Given the description of an element on the screen output the (x, y) to click on. 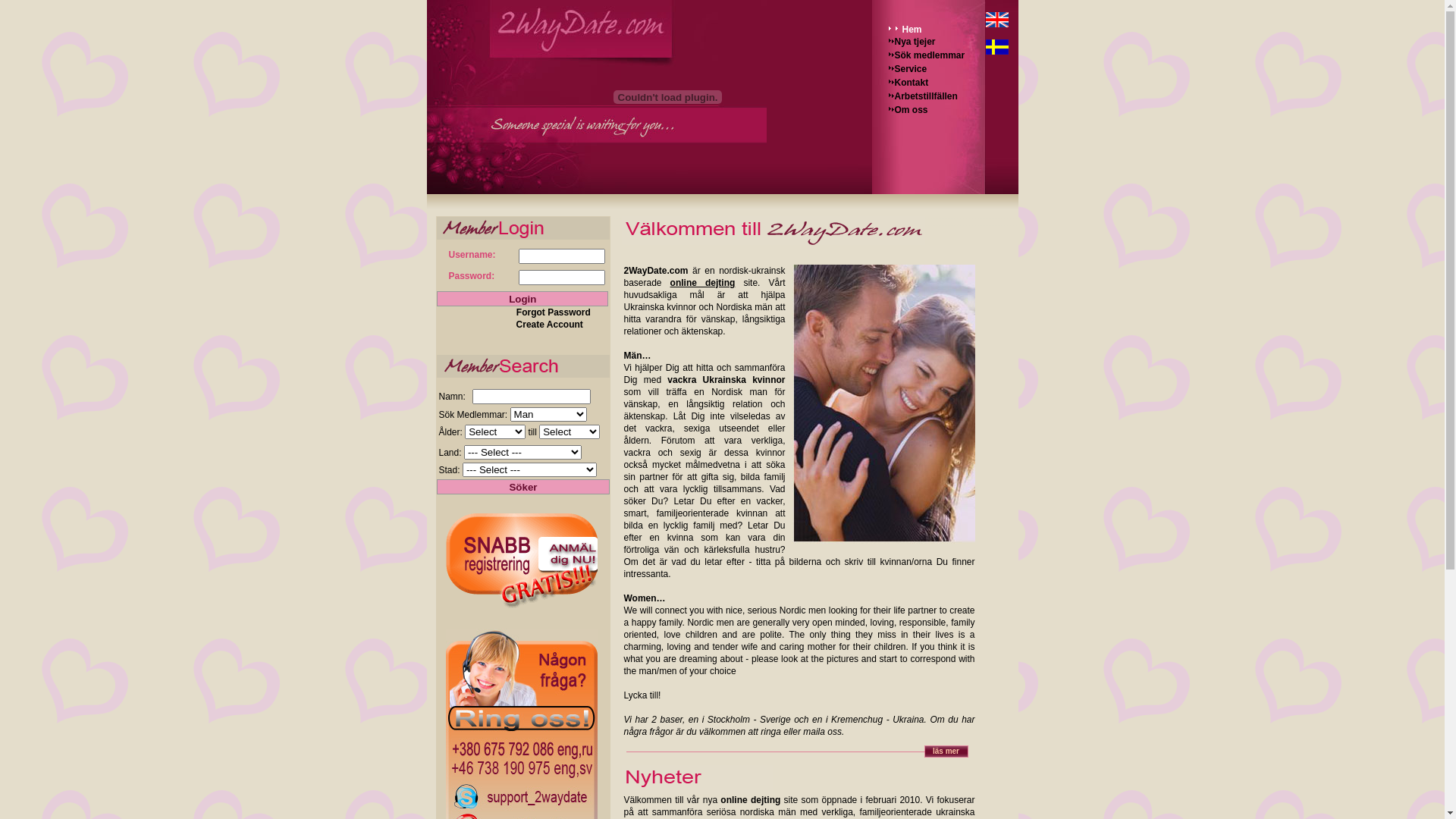
Om oss Element type: text (909, 109)
create new account window Element type: hover (521, 557)
Create Account           Element type: text (562, 324)
Nya tjejer Element type: text (913, 41)
English Element type: hover (996, 19)
Service Element type: text (909, 68)
Kontakt Element type: text (909, 82)
Hem Element type: text (907, 28)
Login Element type: text (522, 298)
Sweden Element type: hover (996, 46)
Forgot Password        Element type: text (562, 312)
